Given the description of an element on the screen output the (x, y) to click on. 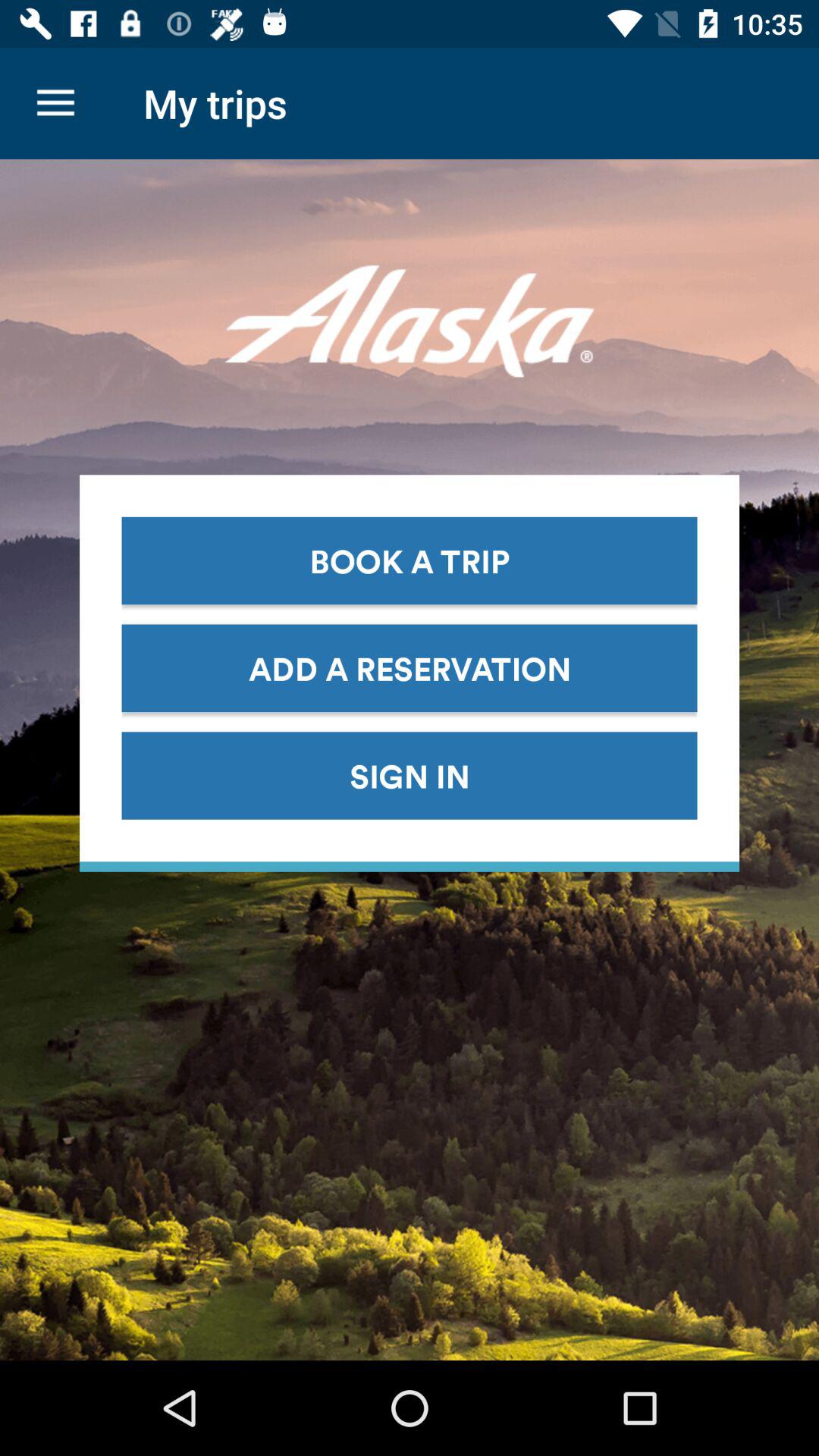
launch the icon above add a reservation item (409, 560)
